Given the description of an element on the screen output the (x, y) to click on. 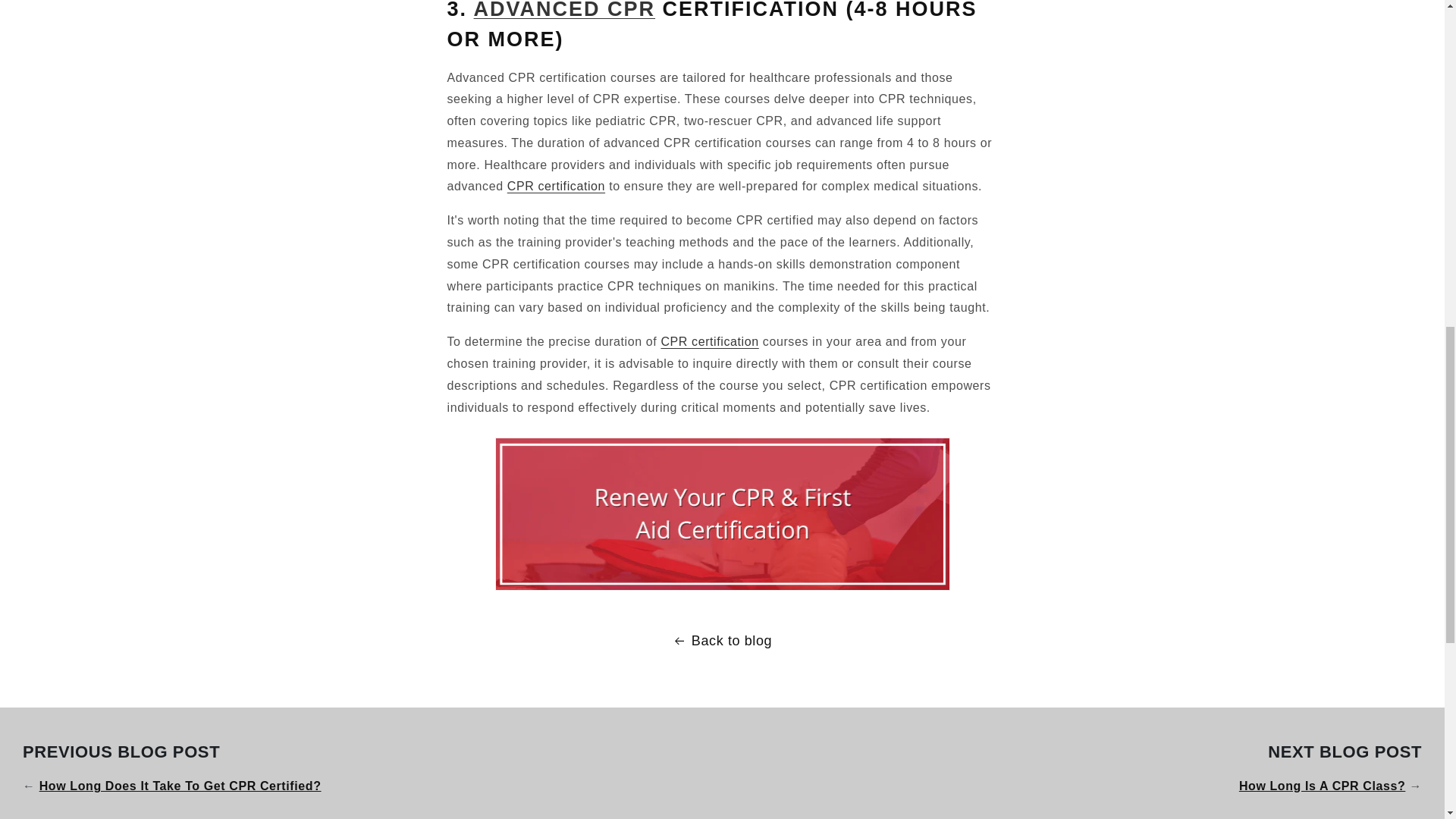
How Long Does It Take To Get CPR Certified? (180, 785)
CPR certification (709, 341)
Advanced CPR for Healthcare Professionals  (565, 9)
ADVANCED CPR (565, 9)
CPR certification (555, 185)
